Given the description of an element on the screen output the (x, y) to click on. 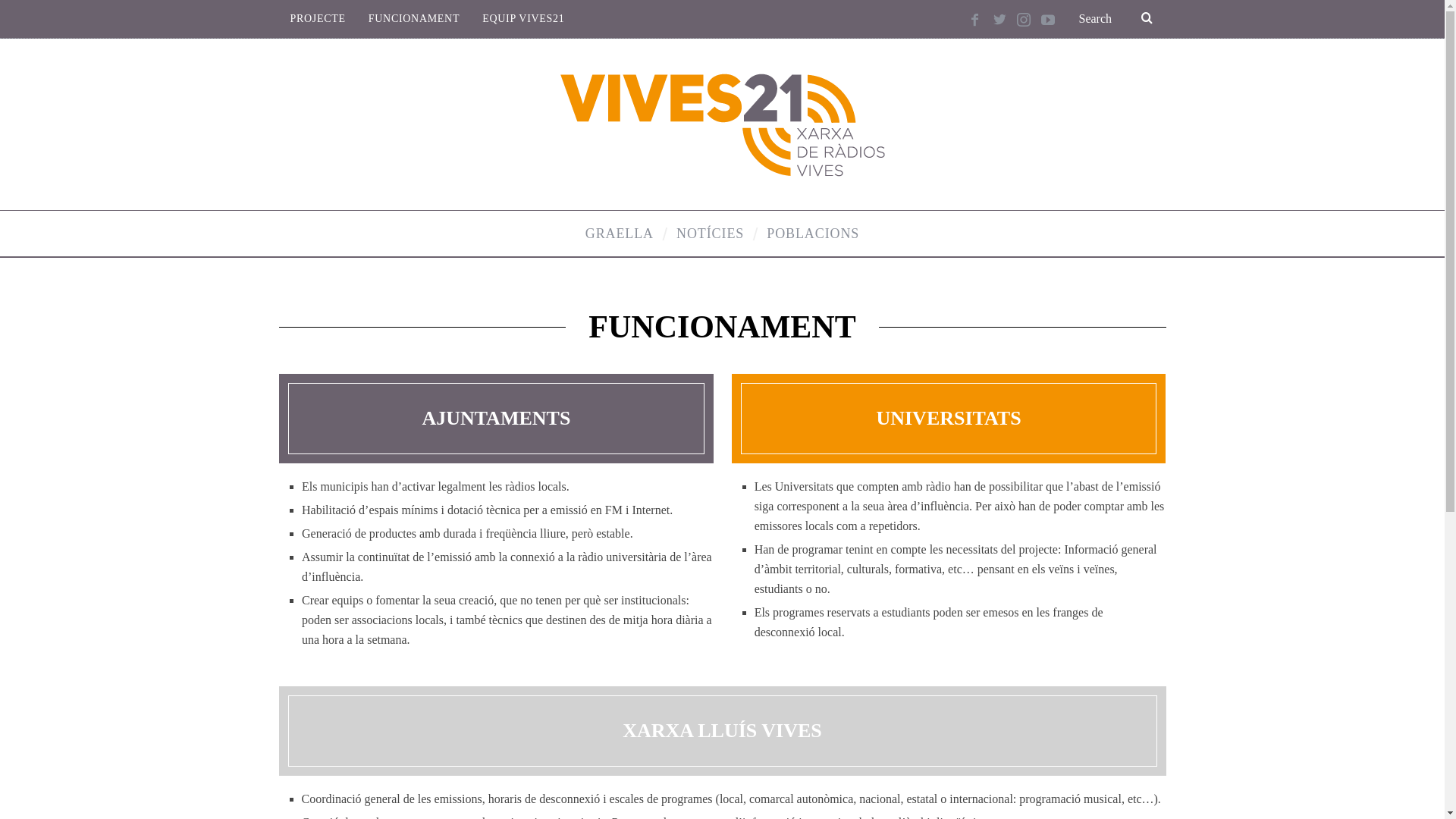
POBLACIONS Element type: text (812, 233)
PROJECTE Element type: text (318, 18)
EQUIP VIVES21 Element type: text (522, 18)
FUNCIONAMENT Element type: text (413, 18)
GRAELLA Element type: text (619, 233)
